Given the description of an element on the screen output the (x, y) to click on. 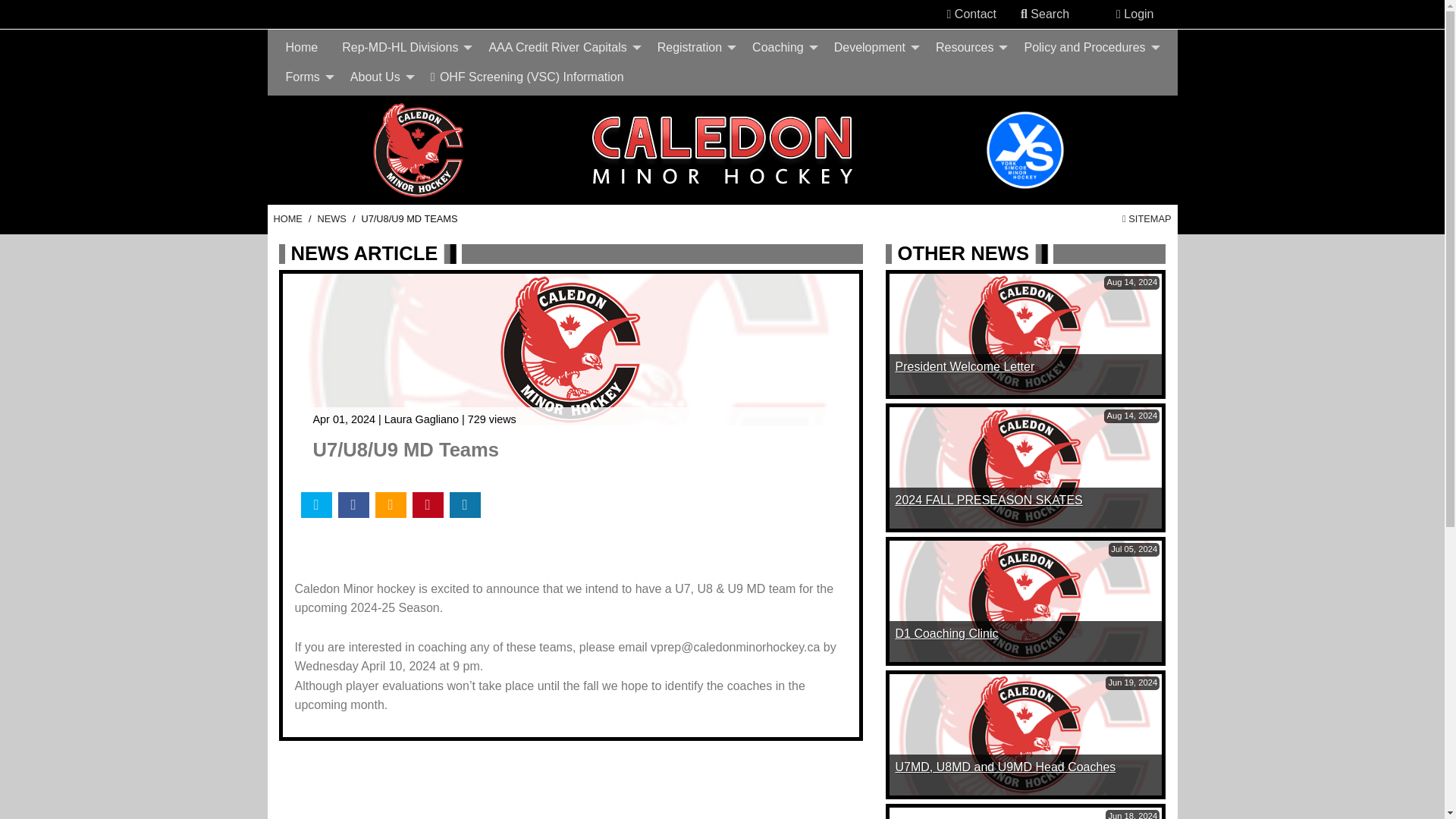
 Contact (971, 14)
read more of this item (964, 366)
Go to the sitemap page for this website (1146, 218)
Main Home Page (287, 218)
List of News (331, 218)
read more of this item (988, 499)
Registration (692, 47)
 Login (1134, 14)
Rep-MD-HL Divisions (403, 47)
Home (301, 47)
